Given the description of an element on the screen output the (x, y) to click on. 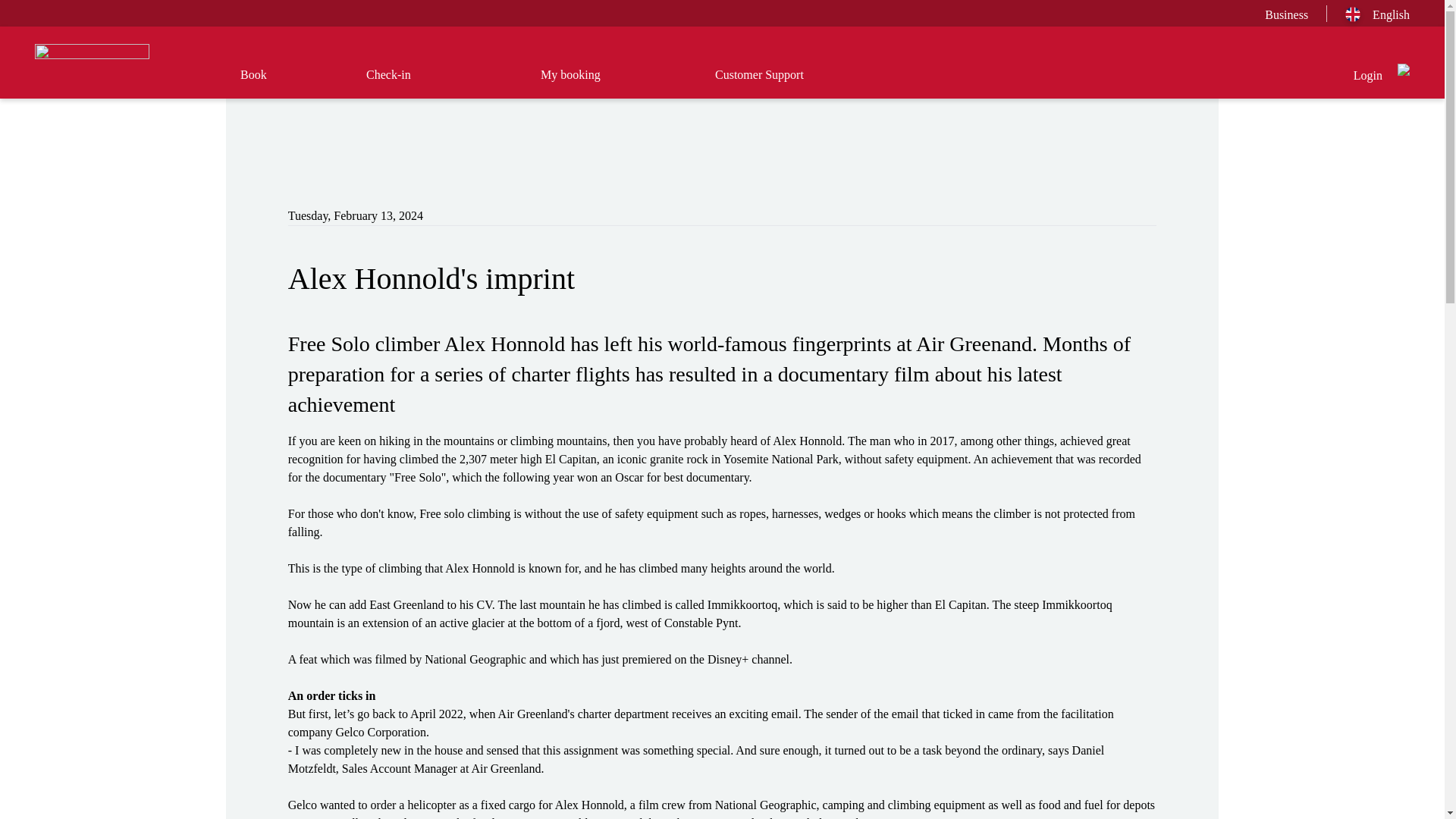
Customer Support (774, 82)
Check-in (426, 82)
My booking (601, 82)
Business (1286, 14)
